Given the description of an element on the screen output the (x, y) to click on. 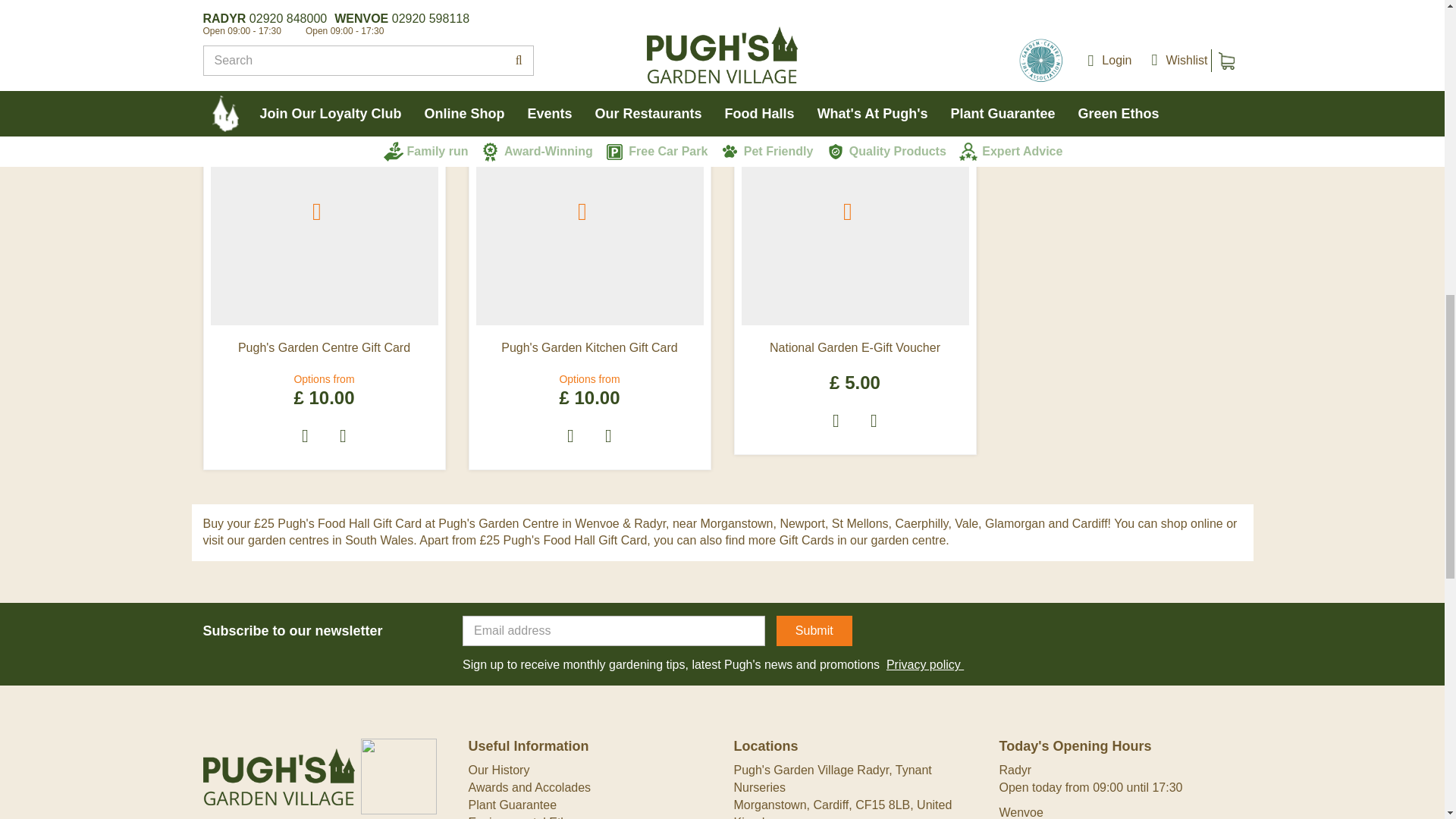
Submit (813, 630)
